Given the description of an element on the screen output the (x, y) to click on. 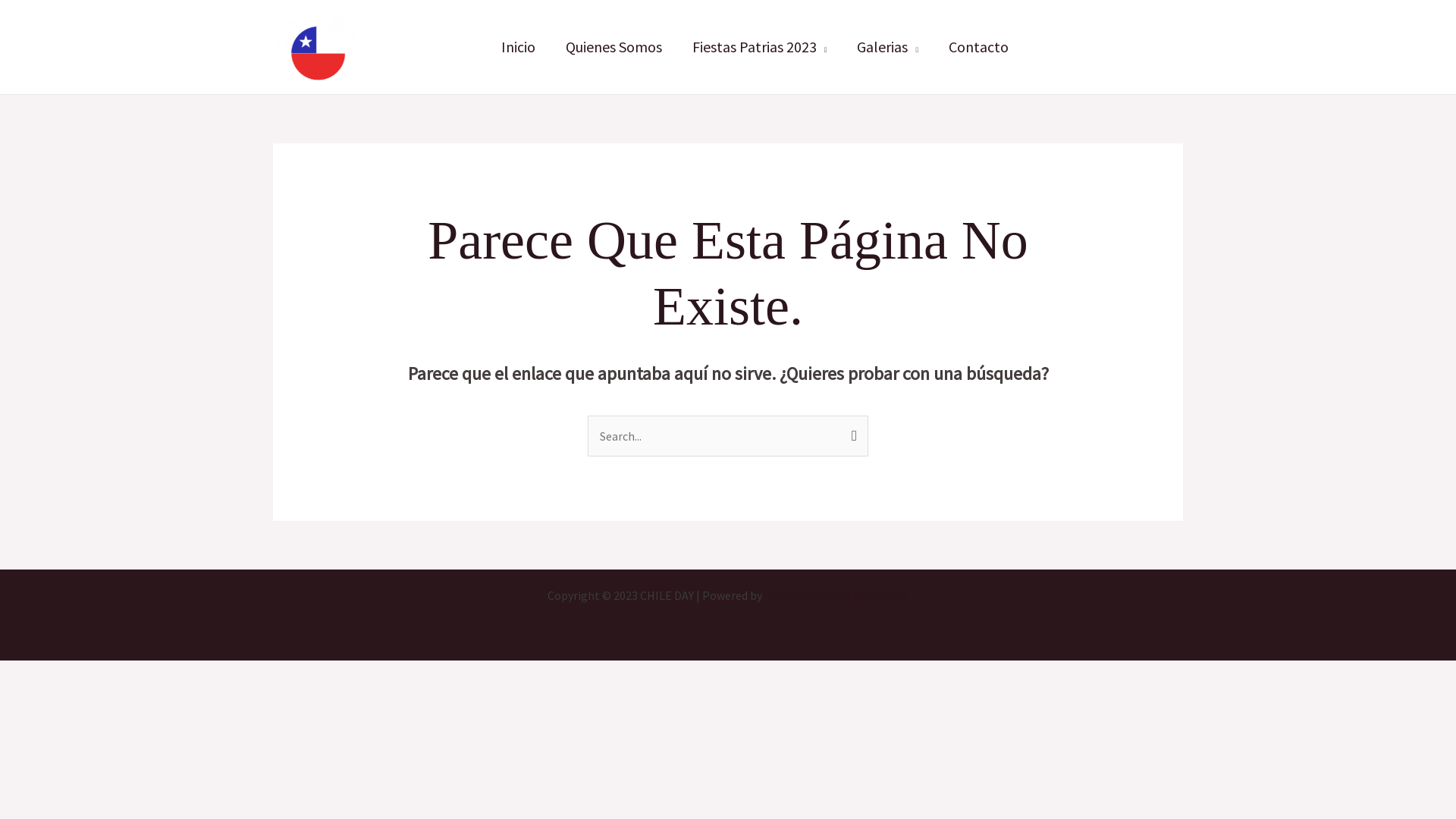
Buscar Element type: text (851, 429)
Contacto Element type: text (978, 46)
Tema Astra para WordPress Element type: text (836, 594)
Fiestas Patrias 2023 Element type: text (759, 46)
Inicio Element type: text (518, 46)
Galerias Element type: text (887, 46)
RESERVACIONES Element type: text (1110, 46)
Quienes Somos Element type: text (613, 46)
